Given the description of an element on the screen output the (x, y) to click on. 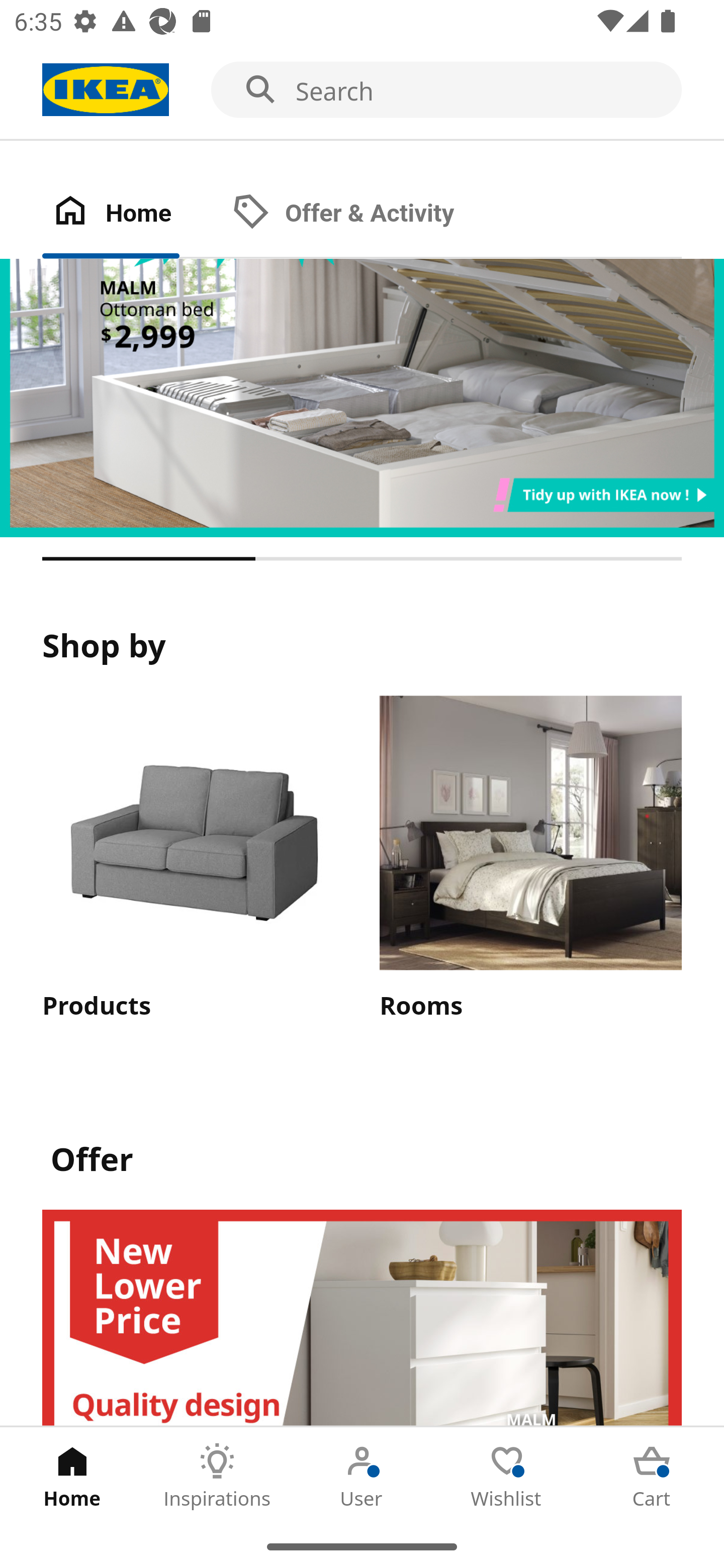
Search (361, 90)
Home
Tab 1 of 2 (131, 213)
Offer & Activity
Tab 2 of 2 (363, 213)
Products (192, 859)
Rooms (530, 859)
Home
Tab 1 of 5 (72, 1476)
Inspirations
Tab 2 of 5 (216, 1476)
User
Tab 3 of 5 (361, 1476)
Wishlist
Tab 4 of 5 (506, 1476)
Cart
Tab 5 of 5 (651, 1476)
